Given the description of an element on the screen output the (x, y) to click on. 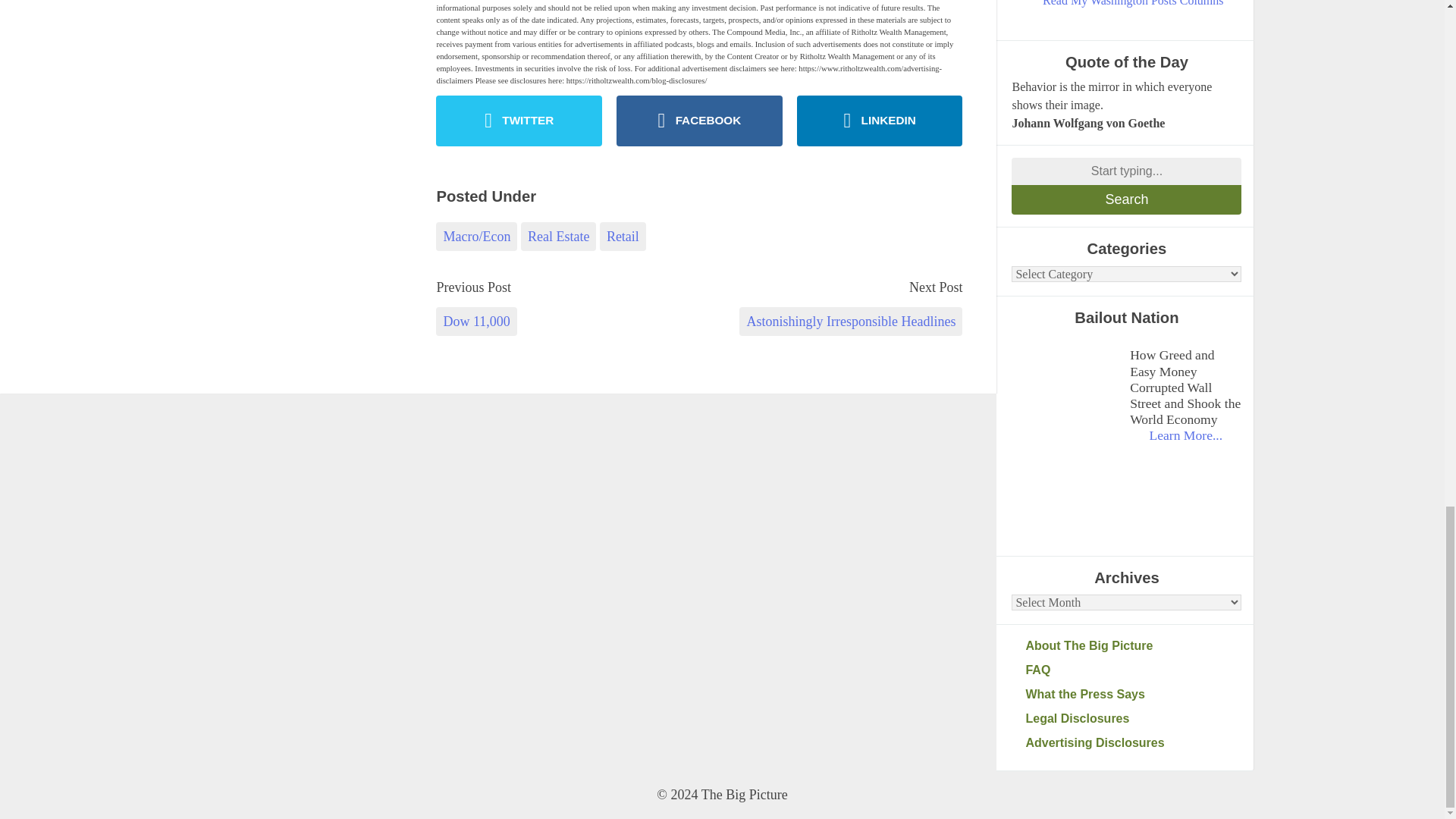
FACEBOOK (699, 120)
LINKEDIN (879, 120)
TWITTER (518, 120)
Search (1126, 199)
Astonishingly Irresponsible Headlines (850, 321)
Legal Disclosures (1133, 719)
About The Big Picture (1133, 646)
FAQ (1133, 669)
Retail (622, 235)
Search (1126, 199)
Dow 11,000 (475, 321)
Learn More... (1185, 435)
Read My Washington Posts Columns (1132, 4)
Search (1126, 199)
What the Press Says (1133, 694)
